Given the description of an element on the screen output the (x, y) to click on. 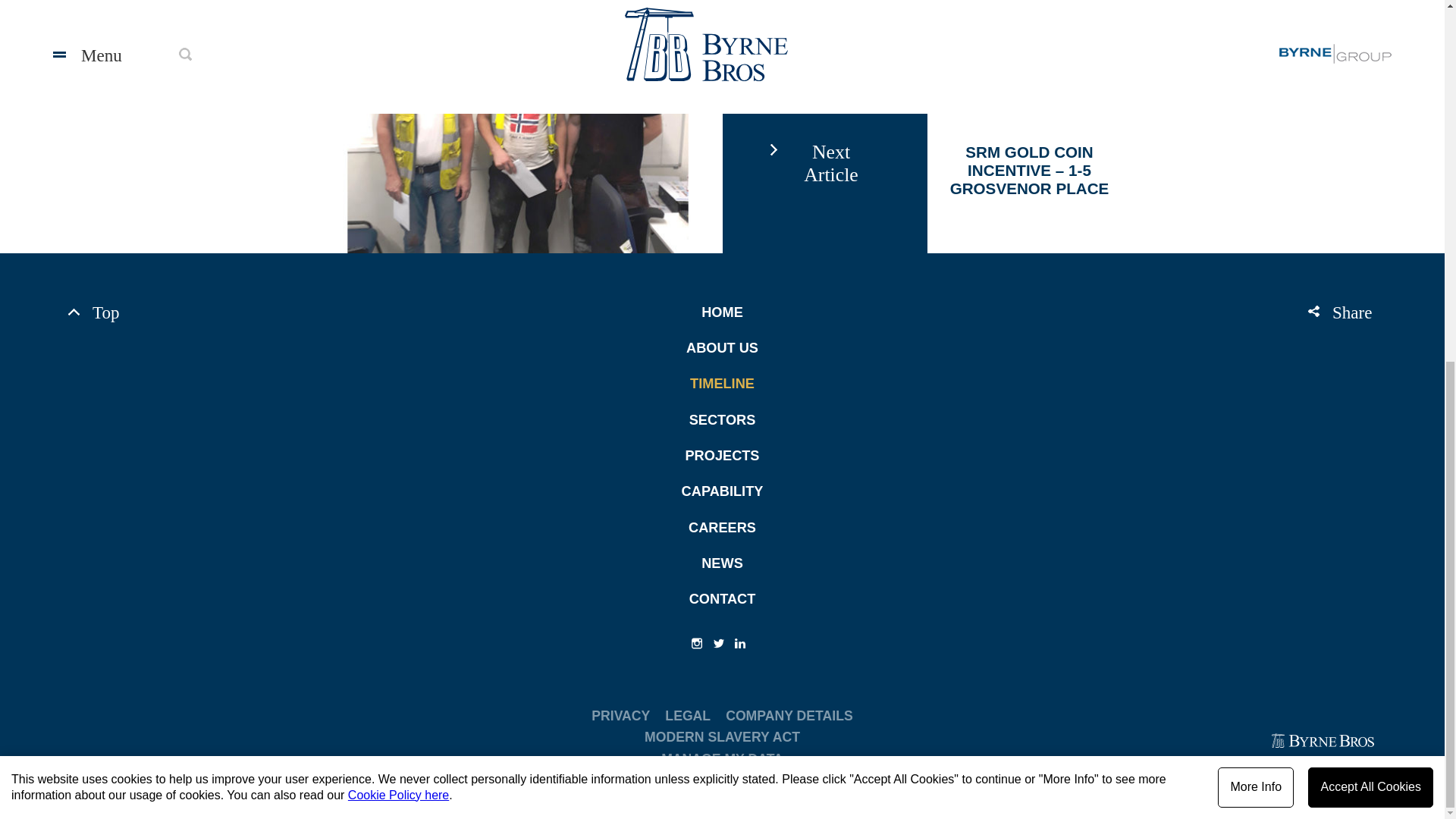
Manage My Data (722, 759)
Legal (687, 716)
Modern Slavery Act (722, 737)
Privacy (620, 716)
Company Details (789, 716)
Cookie Policy (397, 151)
